Given the description of an element on the screen output the (x, y) to click on. 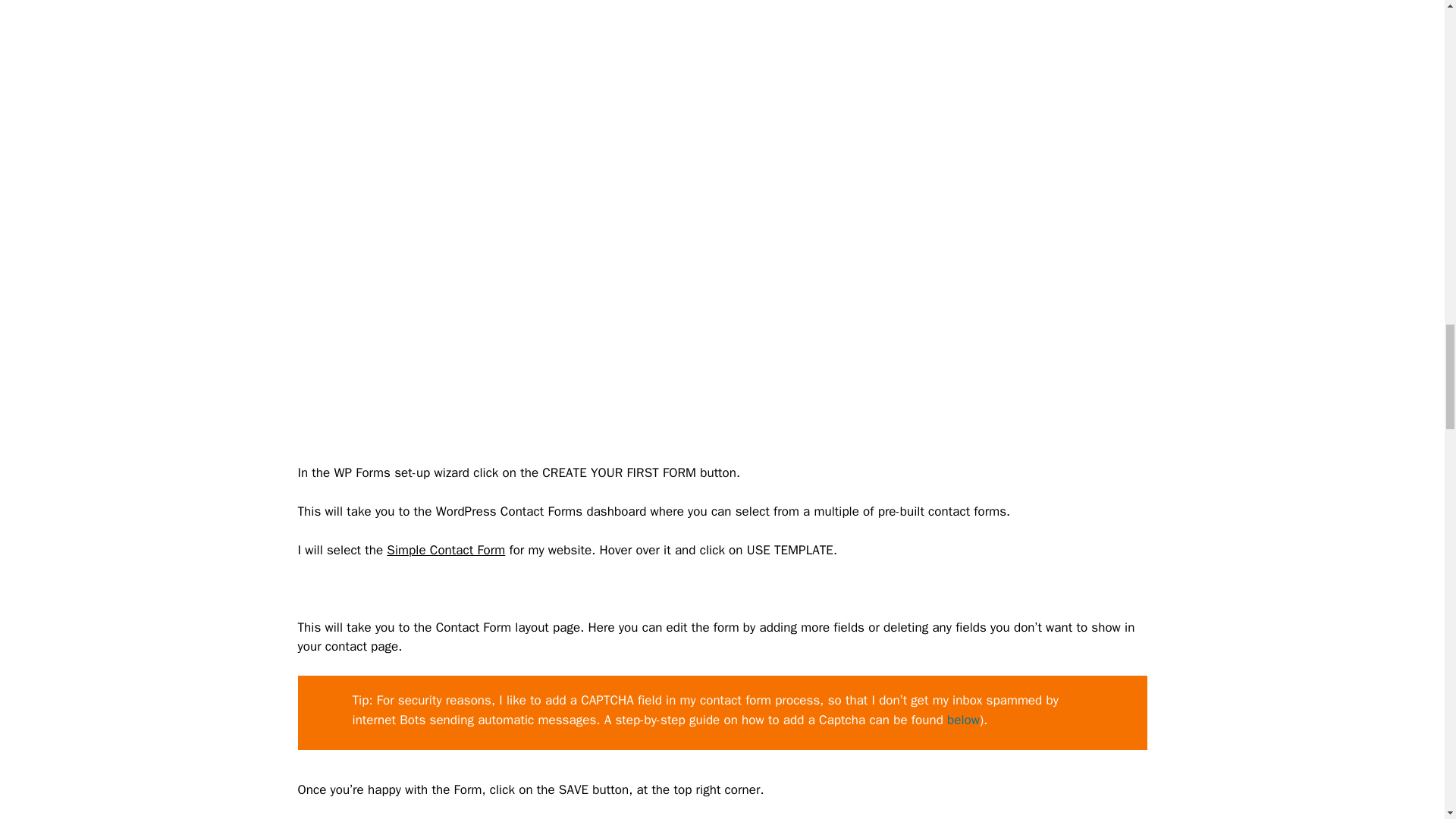
below (963, 719)
